Given the description of an element on the screen output the (x, y) to click on. 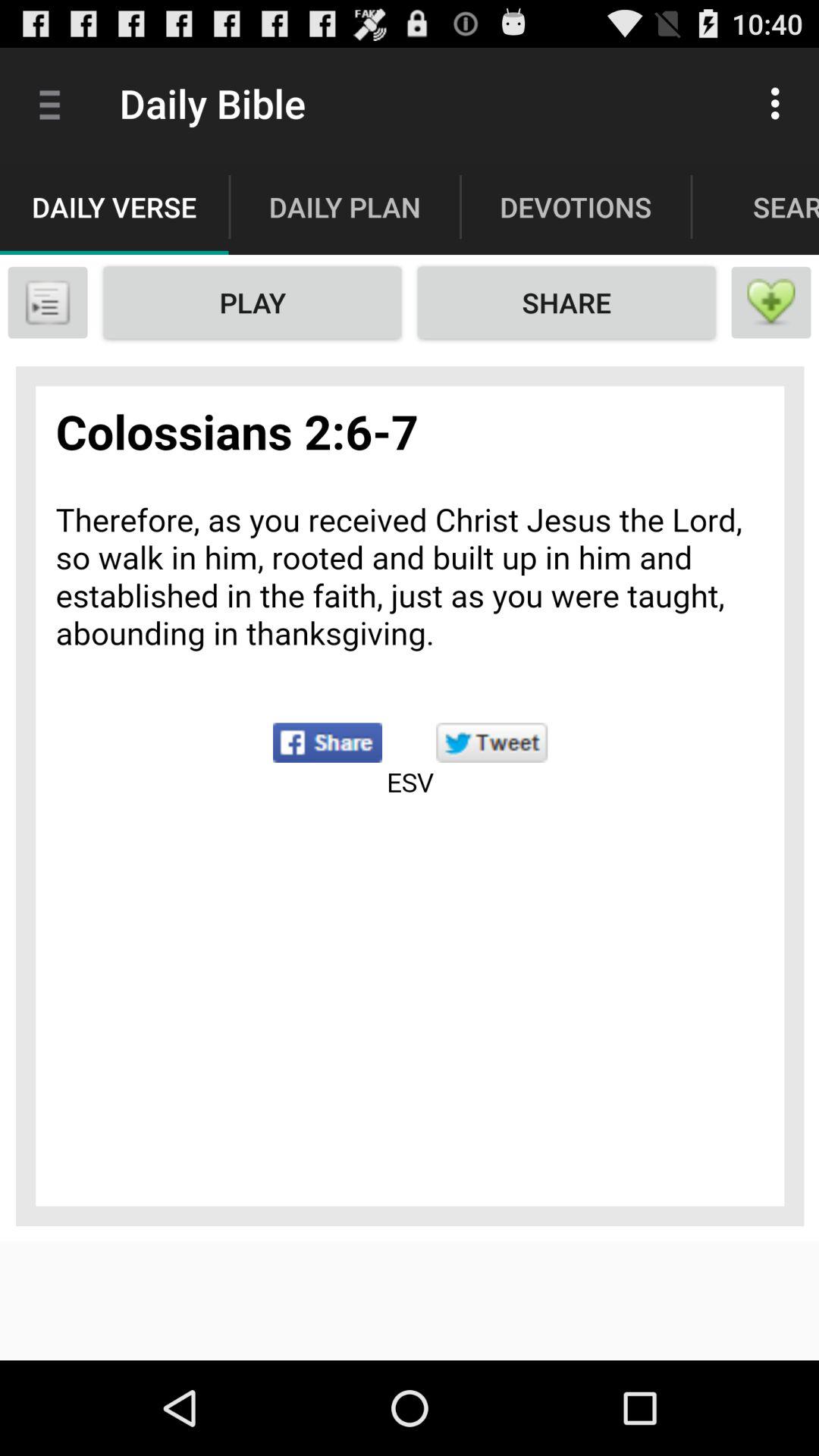
favorite this passage (771, 302)
